Given the description of an element on the screen output the (x, y) to click on. 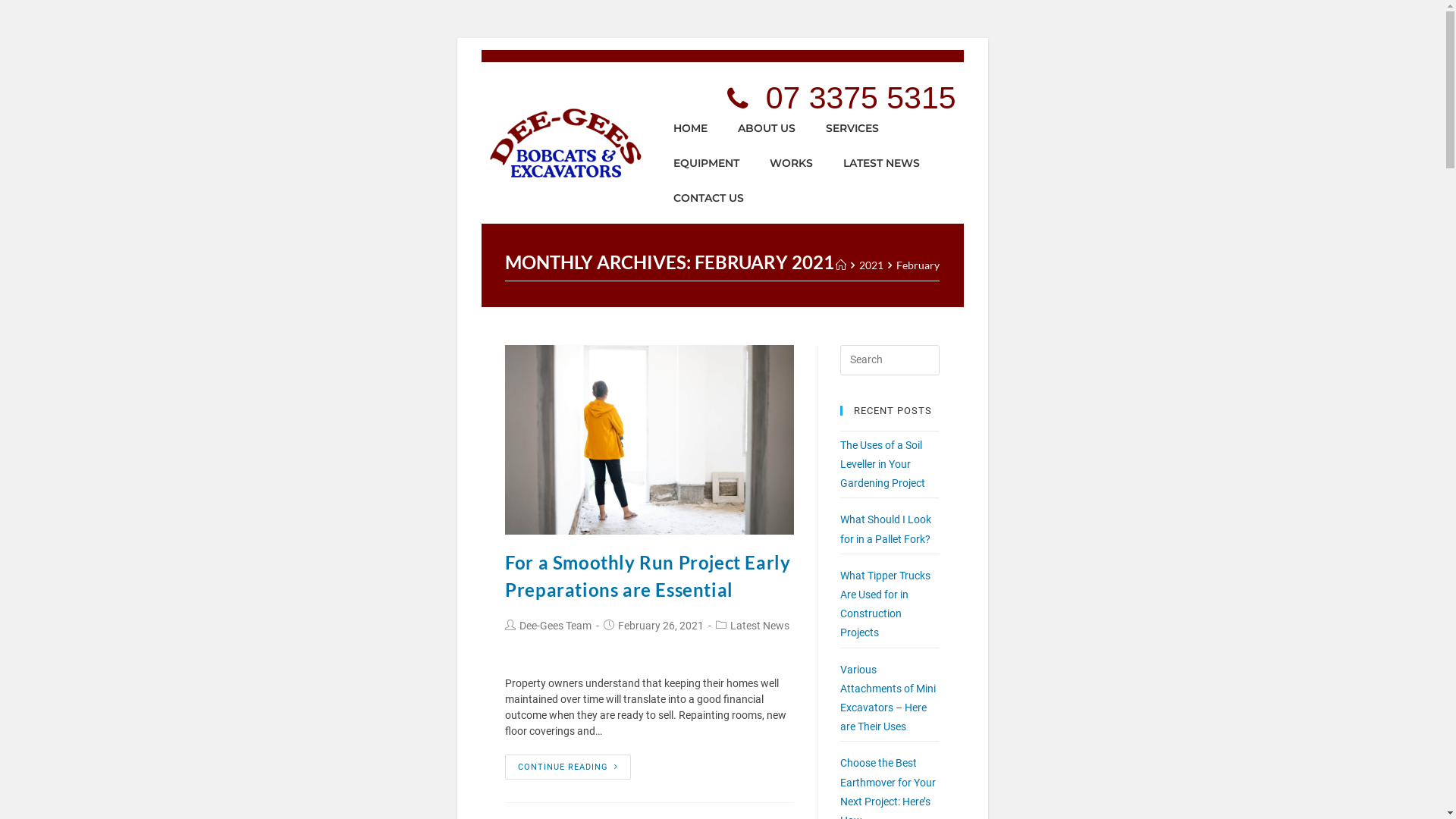
Latest News Element type: text (759, 625)
LATEST NEWS Element type: text (881, 162)
For a Smoothly Run Project Early Preparations are Essential Element type: text (647, 575)
07 3375 5315 Element type: text (840, 98)
WORKS Element type: text (791, 162)
ABOUT US Element type: text (766, 127)
The Uses of a Soil Leveller in Your Gardening Project Element type: text (882, 464)
2021 Element type: text (871, 264)
Dee-Gees Team Element type: text (555, 625)
What Should I Look for in a Pallet Fork? Element type: text (885, 528)
HOME Element type: text (690, 127)
What Tipper Trucks Are Used for in Construction Projects Element type: text (885, 604)
EQUIPMENT Element type: text (706, 162)
CONTINUE READING Element type: text (567, 766)
SERVICES Element type: text (852, 127)
CONTACT US Element type: text (708, 197)
